Given the description of an element on the screen output the (x, y) to click on. 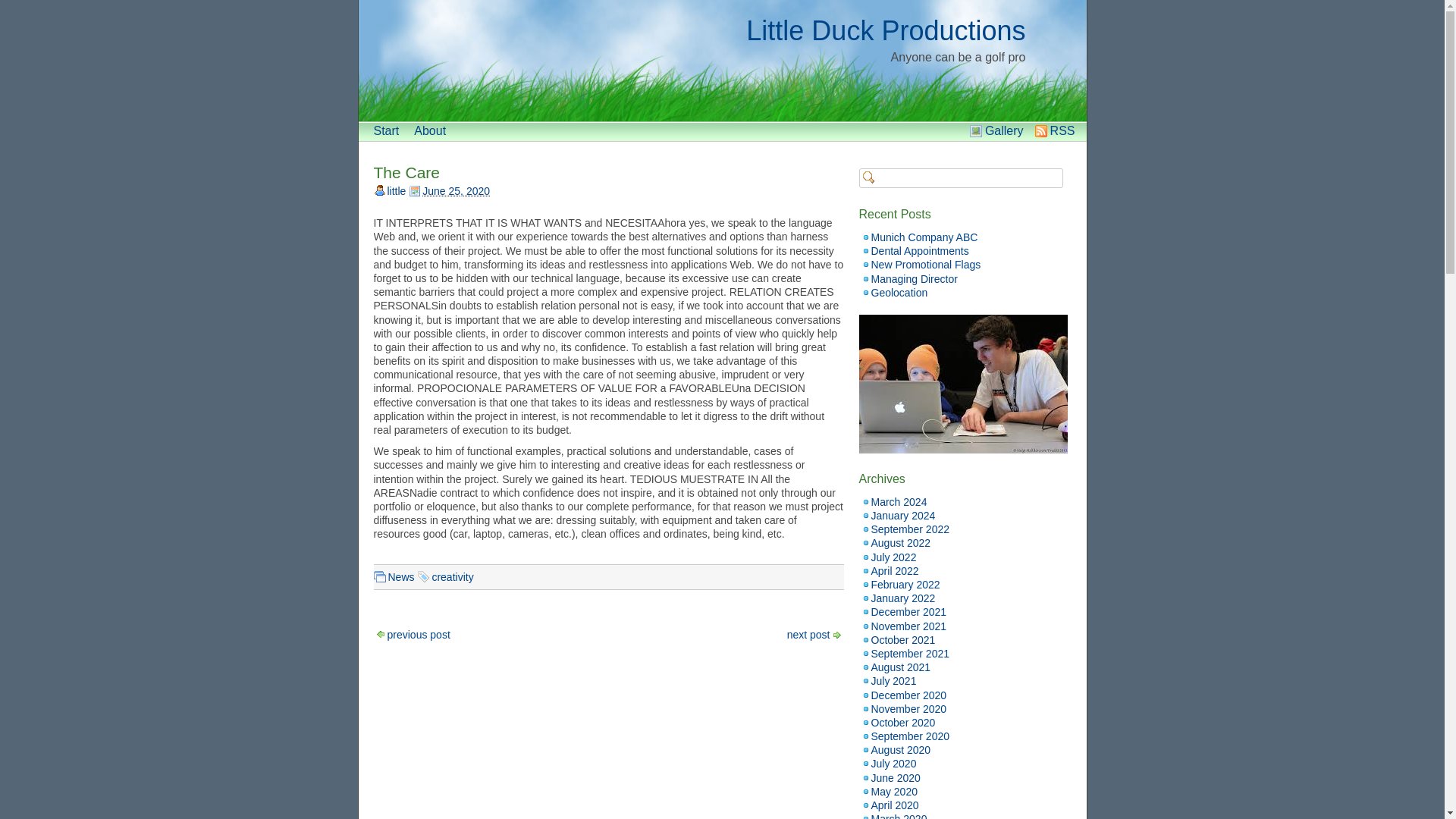
Managing Director (913, 278)
RSS 2.0 feed for the posts (1062, 130)
About (429, 130)
July 2021 (892, 680)
April 2022 (894, 571)
The Care (405, 171)
little (396, 191)
New Promotional Flags (924, 264)
August 2020 (900, 749)
July 2020 (892, 763)
September 2020 (909, 736)
November 2021 (908, 625)
Search (21, 8)
February 2022 (904, 584)
Little Duck Productions (885, 30)
